Given the description of an element on the screen output the (x, y) to click on. 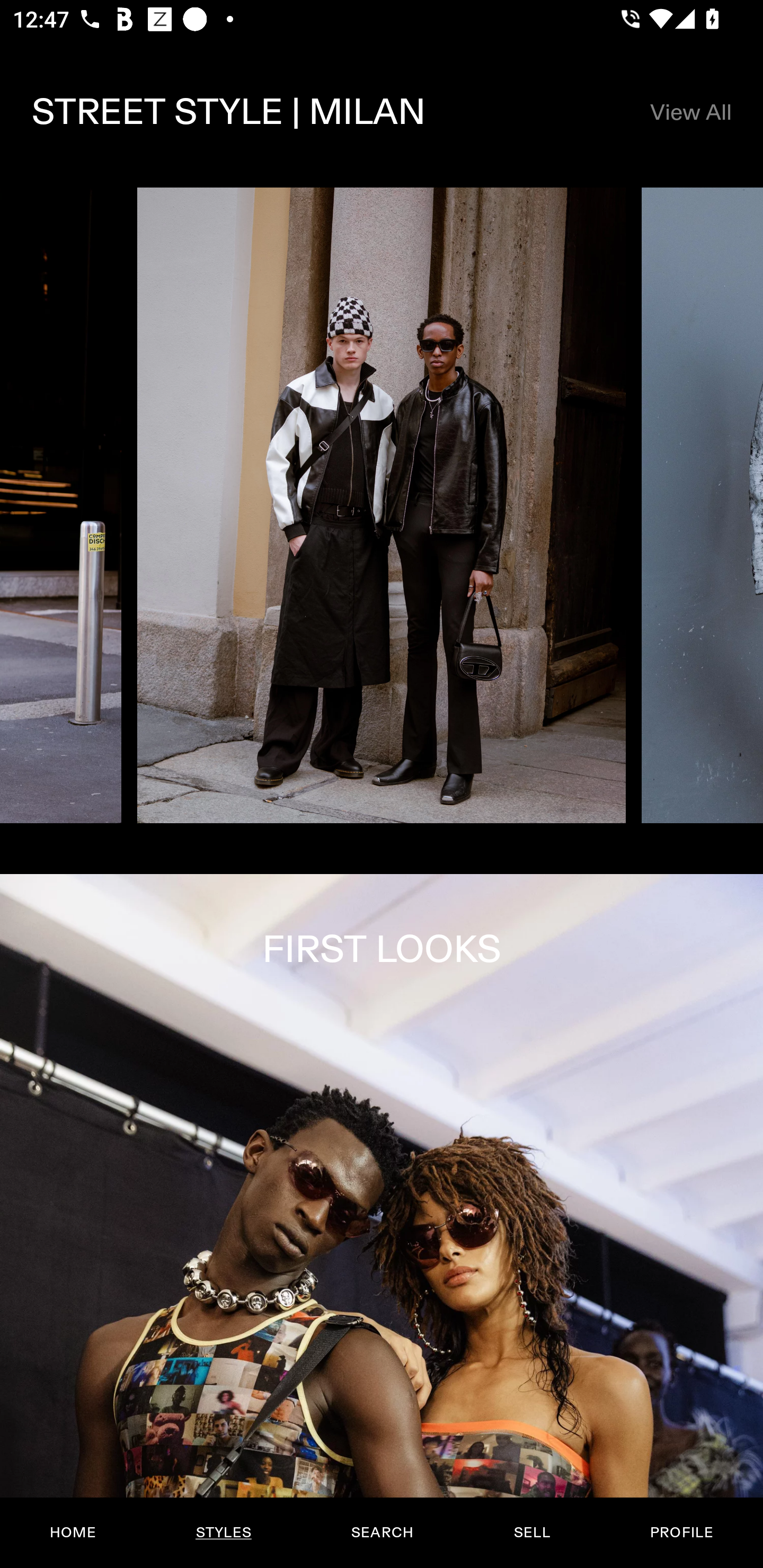
View All (690, 112)
FIRST LOOKS DIESEL FALL '24 (381, 1220)
HOME (72, 1532)
STYLES (222, 1532)
SEARCH (381, 1532)
SELL (531, 1532)
PROFILE (681, 1532)
